Given the description of an element on the screen output the (x, y) to click on. 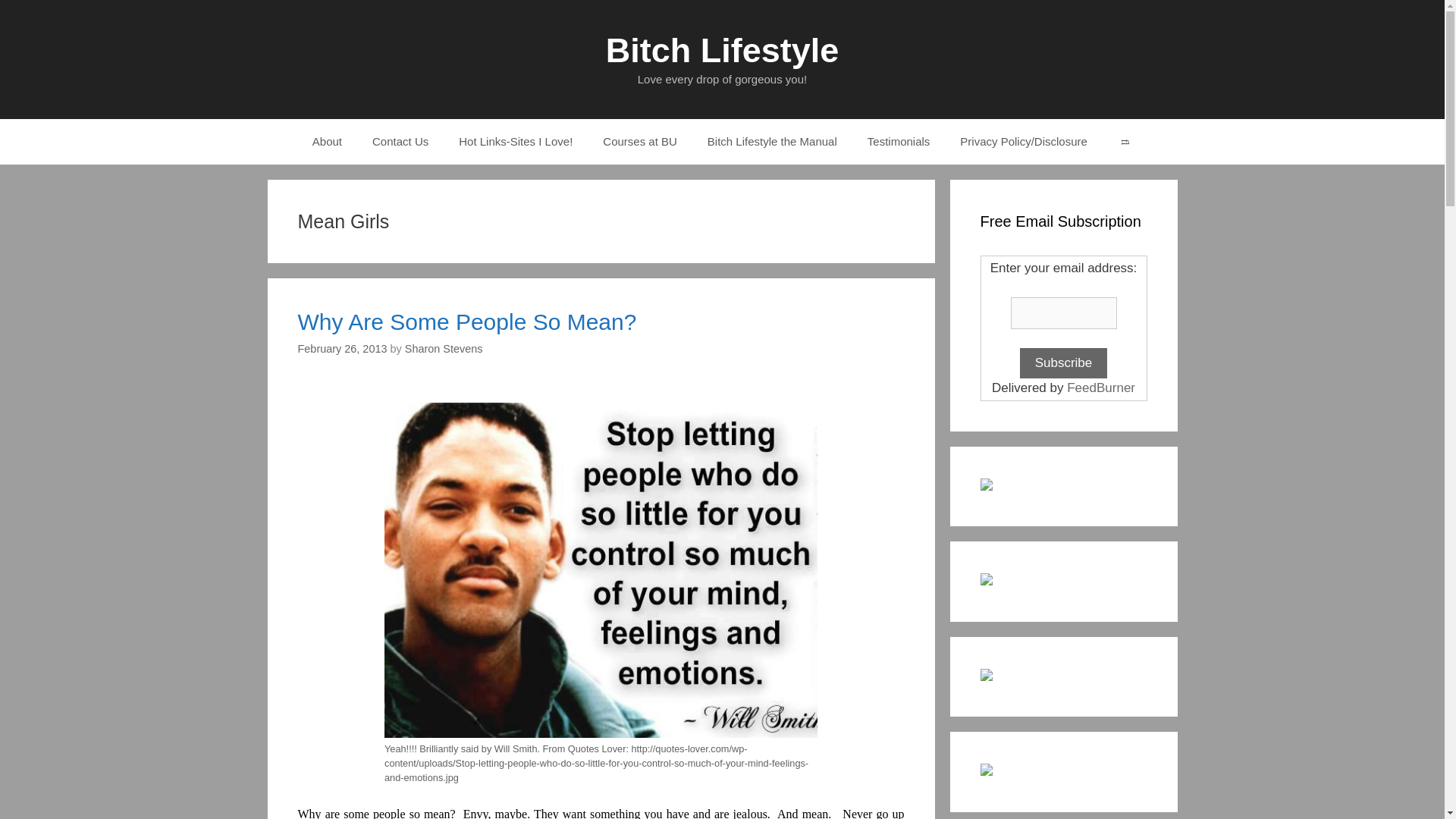
Search (1124, 140)
Hot Links-Sites I Love! (516, 140)
Search (1124, 140)
View all posts by Sharon Stevens (443, 348)
Subscribe (1064, 363)
About (326, 140)
Bitch Lifestyle (722, 50)
February 26, 2013 (342, 348)
Testimonials (897, 140)
Bitch Lifestyle the Manual (772, 140)
Contact Us (400, 140)
Courses at BU (640, 140)
Why Are Some People So Mean? (466, 321)
Sharon Stevens (443, 348)
